Given the description of an element on the screen output the (x, y) to click on. 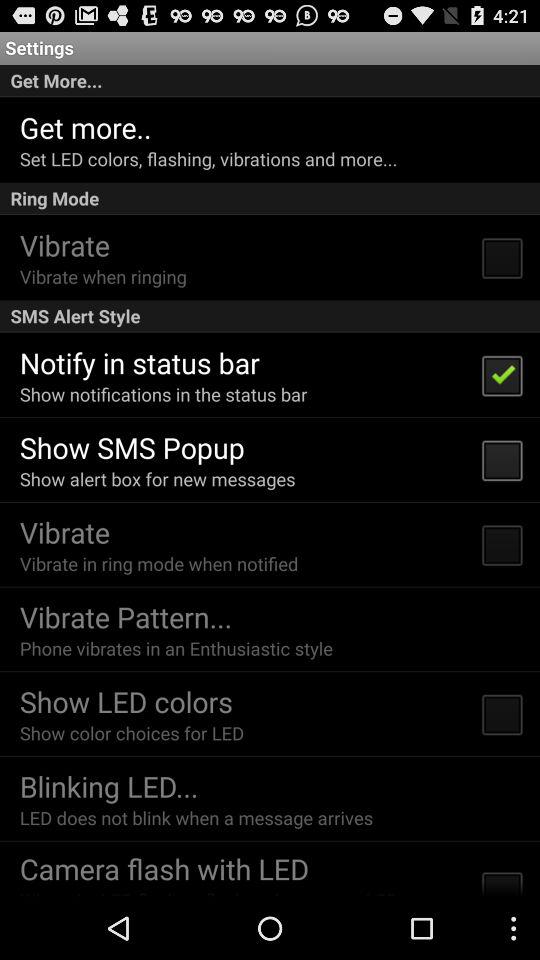
turn off the app above the show sms popup item (163, 393)
